Given the description of an element on the screen output the (x, y) to click on. 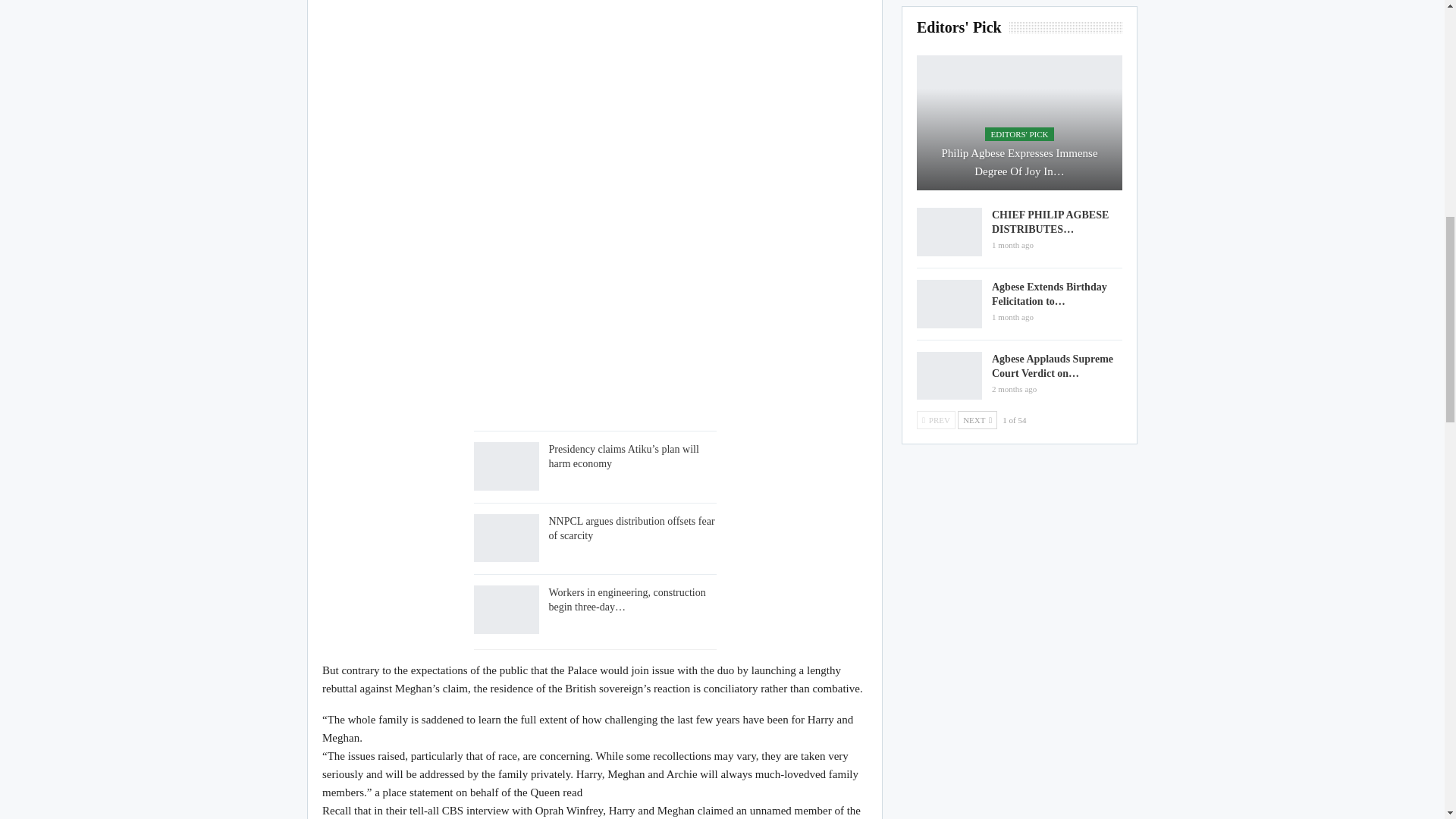
NNPCL argues distribution offsets fear of scarcity (505, 538)
NNPCL argues distribution offsets fear of scarcity (631, 528)
